Given the description of an element on the screen output the (x, y) to click on. 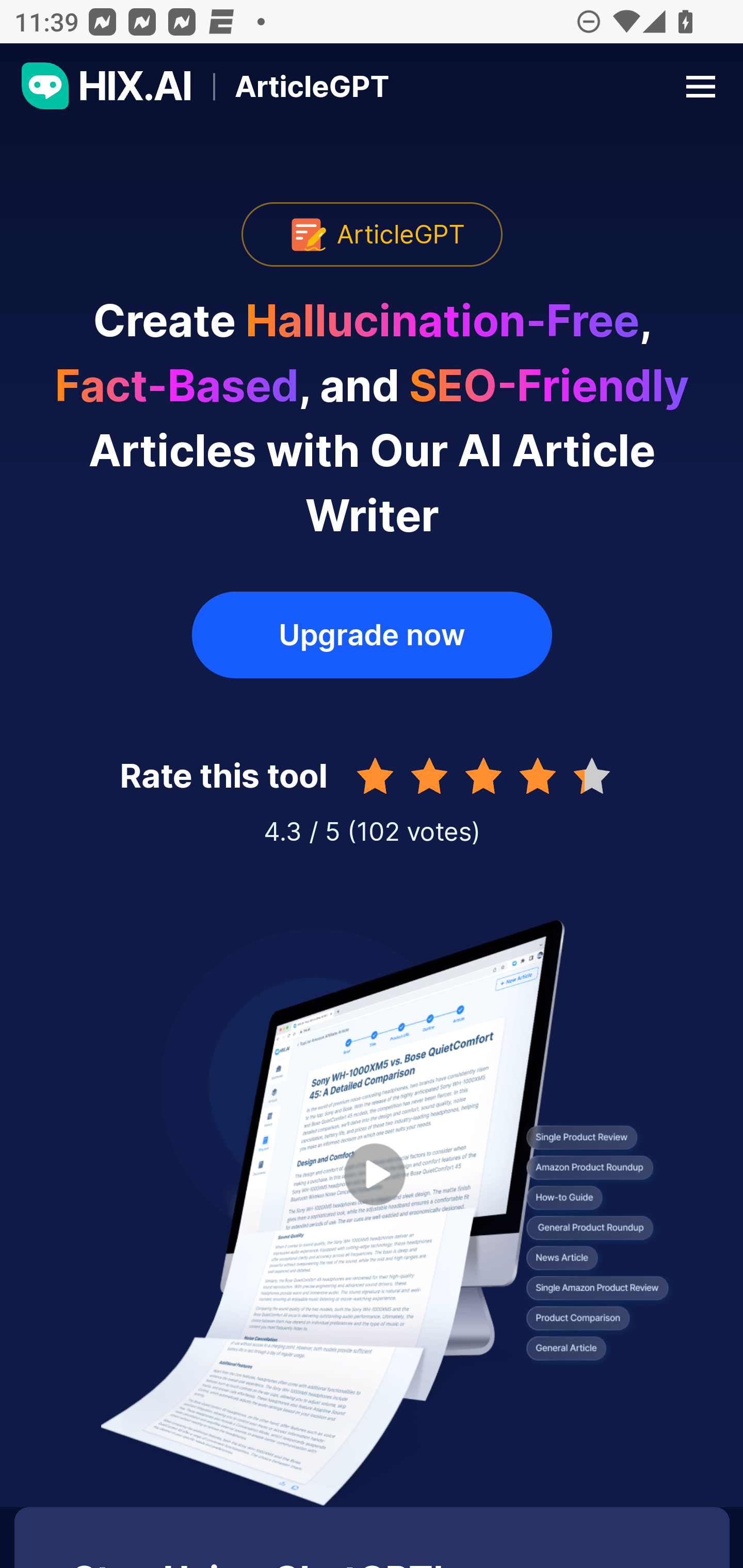
hix (107, 86)
ArticleGPT (290, 86)
Upgrade now (371, 633)
